Given the description of an element on the screen output the (x, y) to click on. 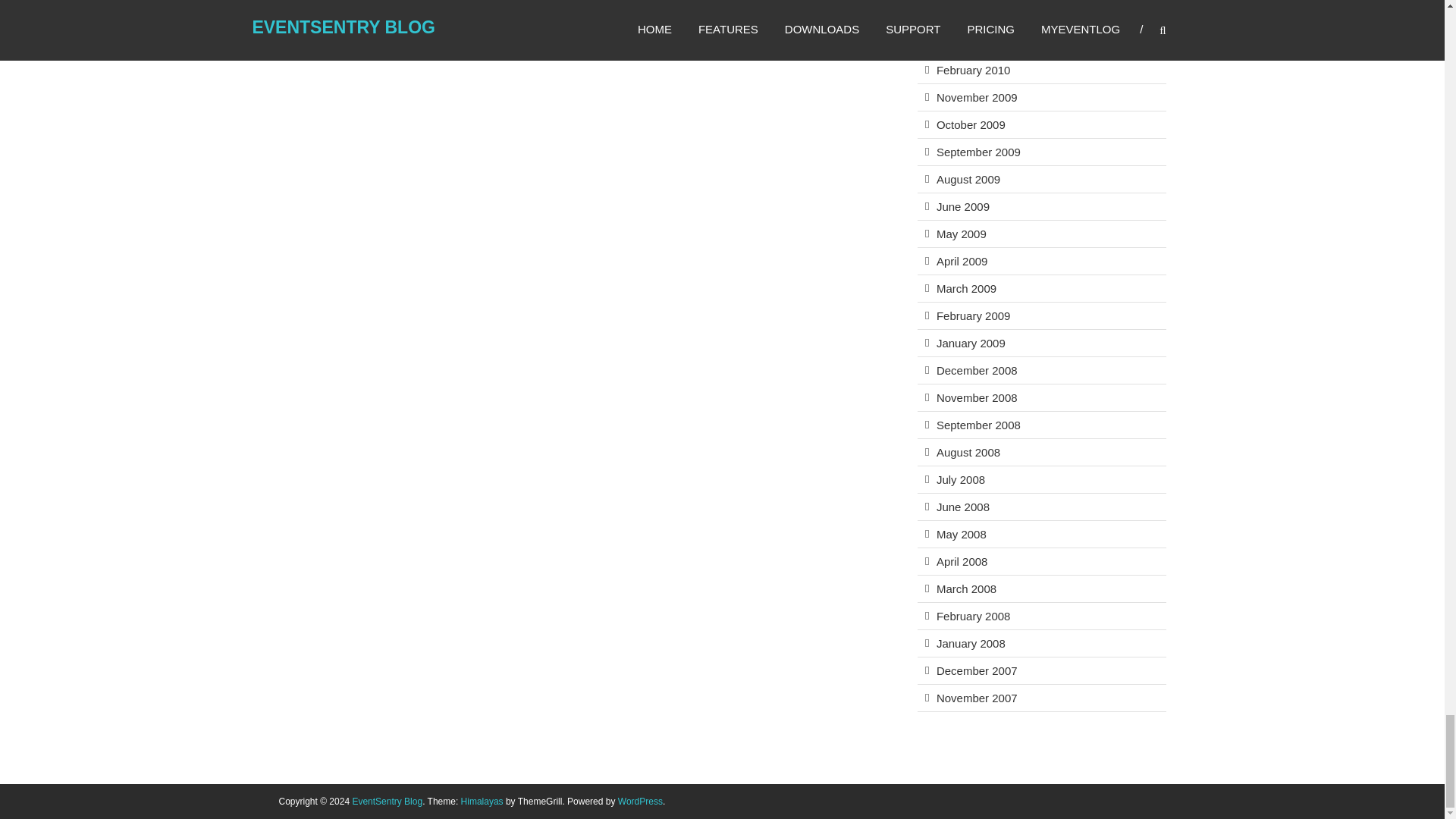
Himalayas (482, 801)
EventSentry Blog (387, 801)
WordPress (639, 801)
